Given the description of an element on the screen output the (x, y) to click on. 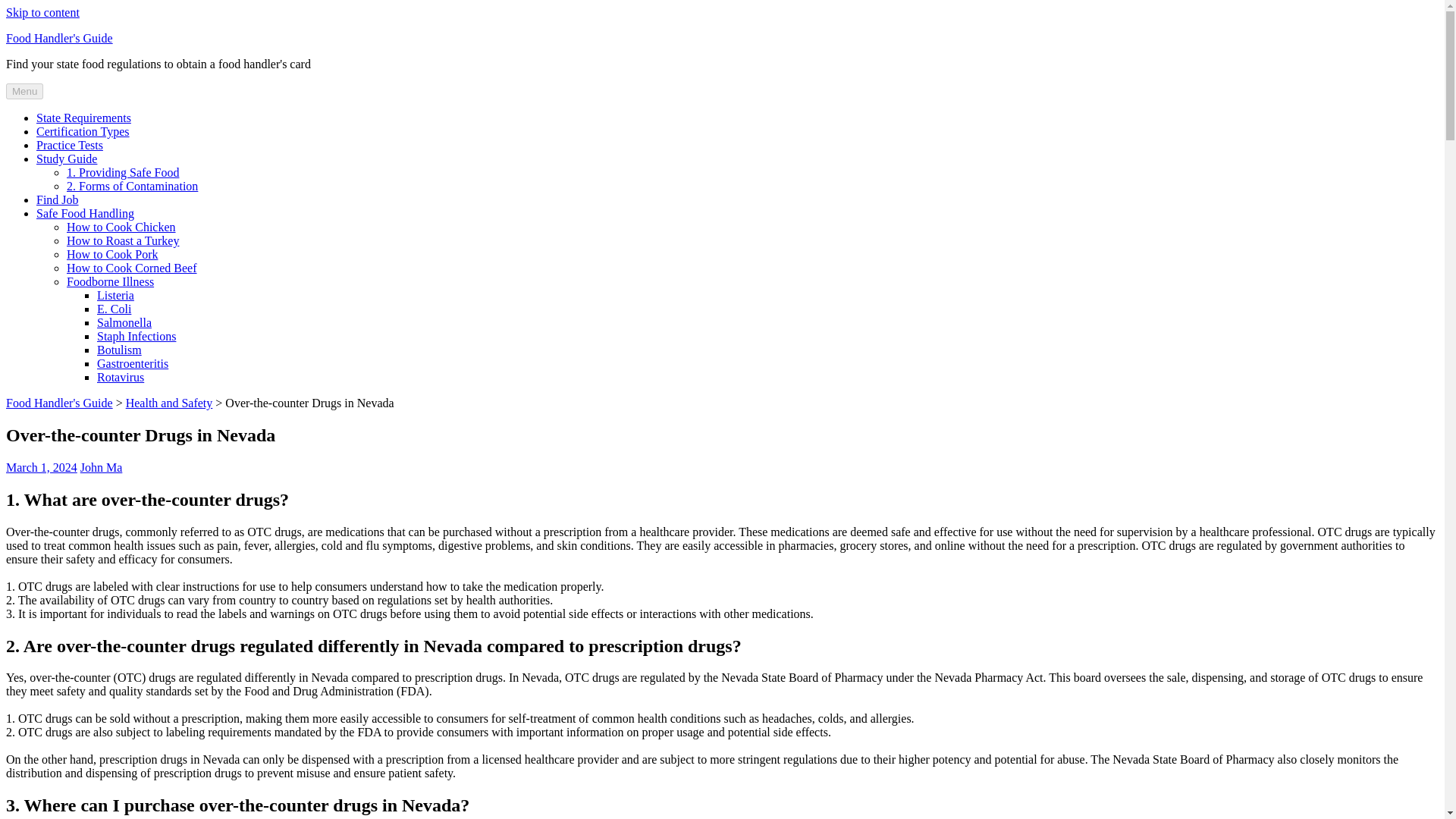
John Ma (101, 467)
Botulism (119, 349)
Food Handler's Guide (59, 402)
2. Forms of Contamination (132, 185)
Find Job (57, 199)
State Requirements (83, 117)
How to Cook Pork (111, 254)
Health and Safety (168, 402)
Gastroenteritis (132, 363)
Menu (24, 91)
